Given the description of an element on the screen output the (x, y) to click on. 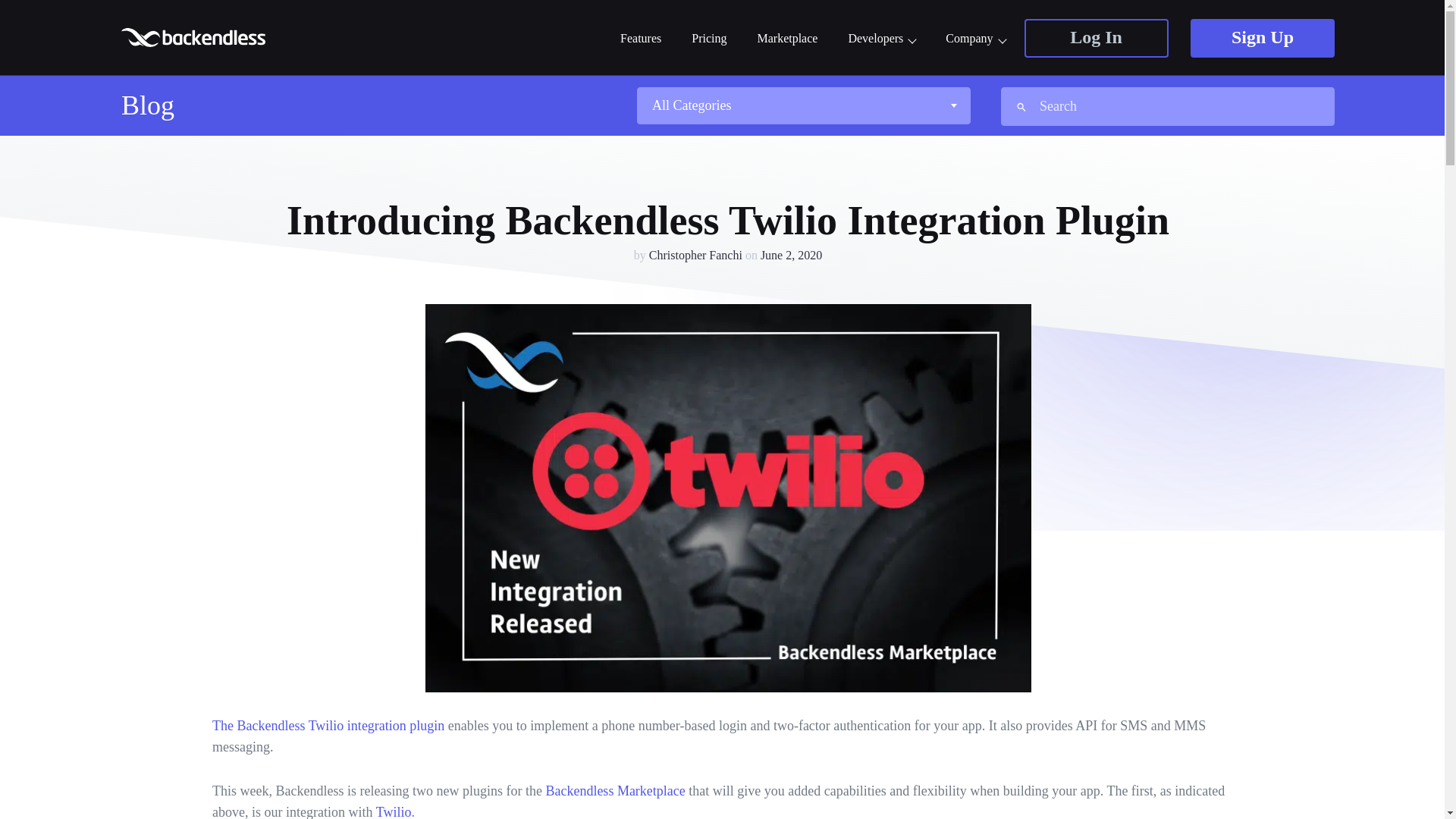
Posts by Christopher Fanchi (695, 255)
Features (640, 38)
Log In (1095, 37)
Marketplace (786, 38)
Backendless (194, 36)
Sign Up (1263, 37)
Company (974, 38)
Developers (881, 38)
Pricing (708, 38)
All Categories (802, 105)
Backendless (194, 36)
